Given the description of an element on the screen output the (x, y) to click on. 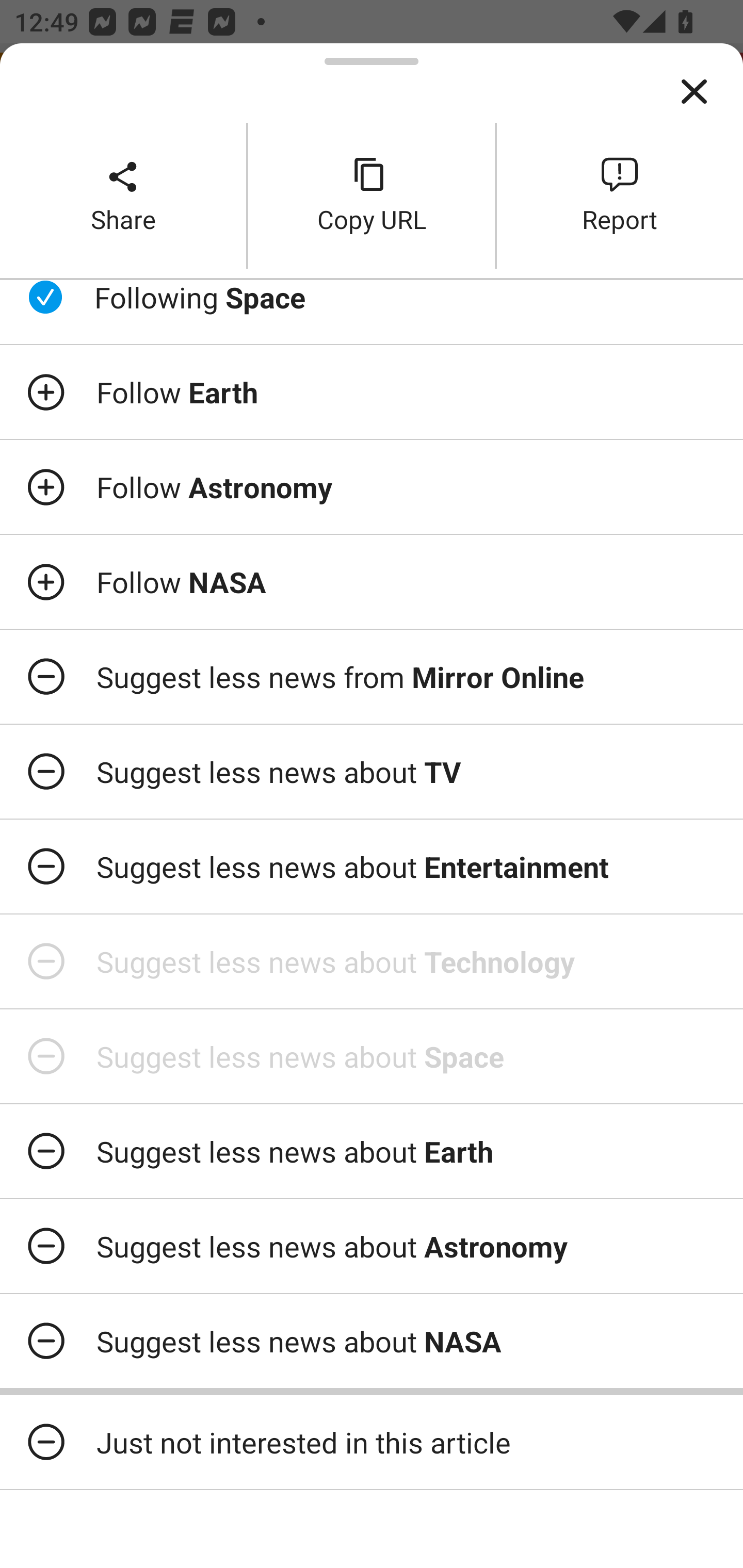
Close (694, 91)
Share (122, 195)
Copy URL (371, 195)
Report (620, 195)
Following Space (371, 311)
Follow Earth (371, 391)
Follow Astronomy (371, 486)
Follow NASA (371, 581)
Suggest less news from Mirror Online (371, 677)
Suggest less news about TV (371, 771)
Suggest less news about Entertainment (371, 867)
Suggest less news about Earth (371, 1150)
Suggest less news about Astronomy (371, 1246)
Suggest less news about NASA (371, 1340)
Just not interested in this article (371, 1442)
